Given the description of an element on the screen output the (x, y) to click on. 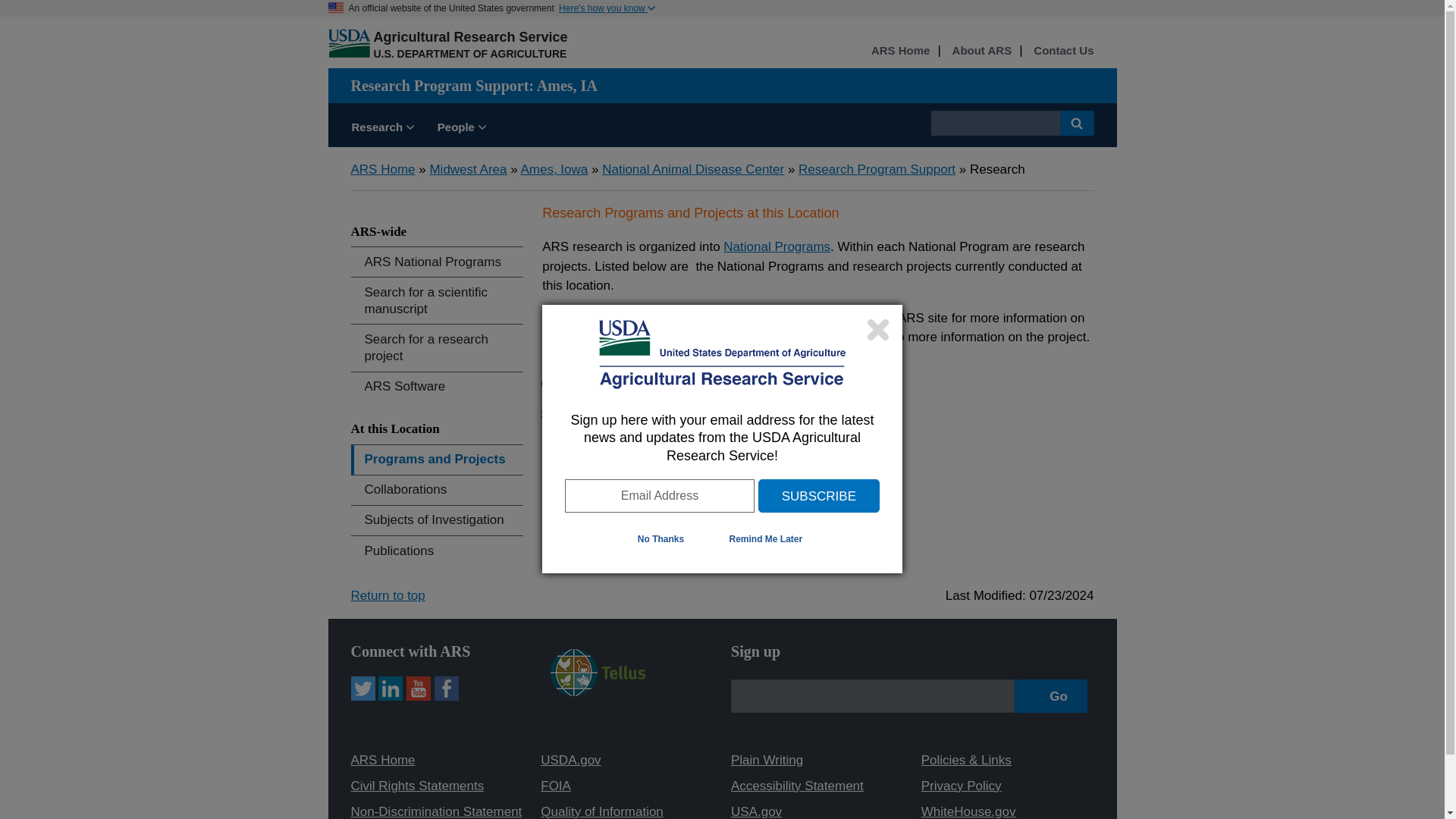
Go (1050, 695)
search (995, 122)
Programs and Projects (436, 460)
Email Address (659, 495)
U.S. DEPARTMENT OF AGRICULTURE (469, 53)
Tellus (597, 672)
Search for a scientific manuscript (436, 300)
Here's how you know (607, 8)
Subjects of Investigation (436, 520)
ARS Home (900, 50)
About ARS (981, 50)
National Programs (776, 246)
LinkedIn (390, 688)
All Projects (613, 413)
Midwest Area (467, 169)
